Given the description of an element on the screen output the (x, y) to click on. 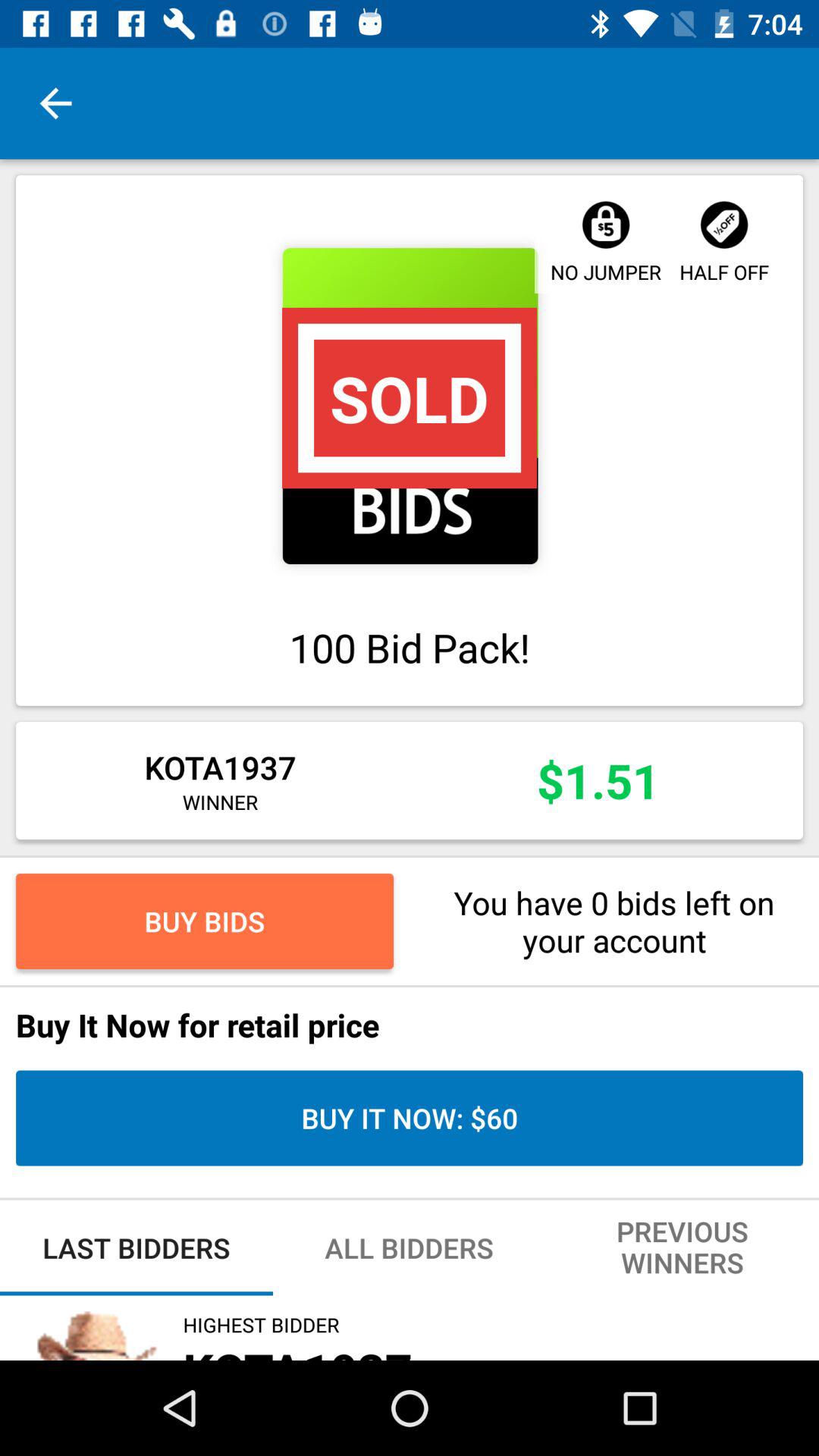
scroll until the buy bids (204, 921)
